Given the description of an element on the screen output the (x, y) to click on. 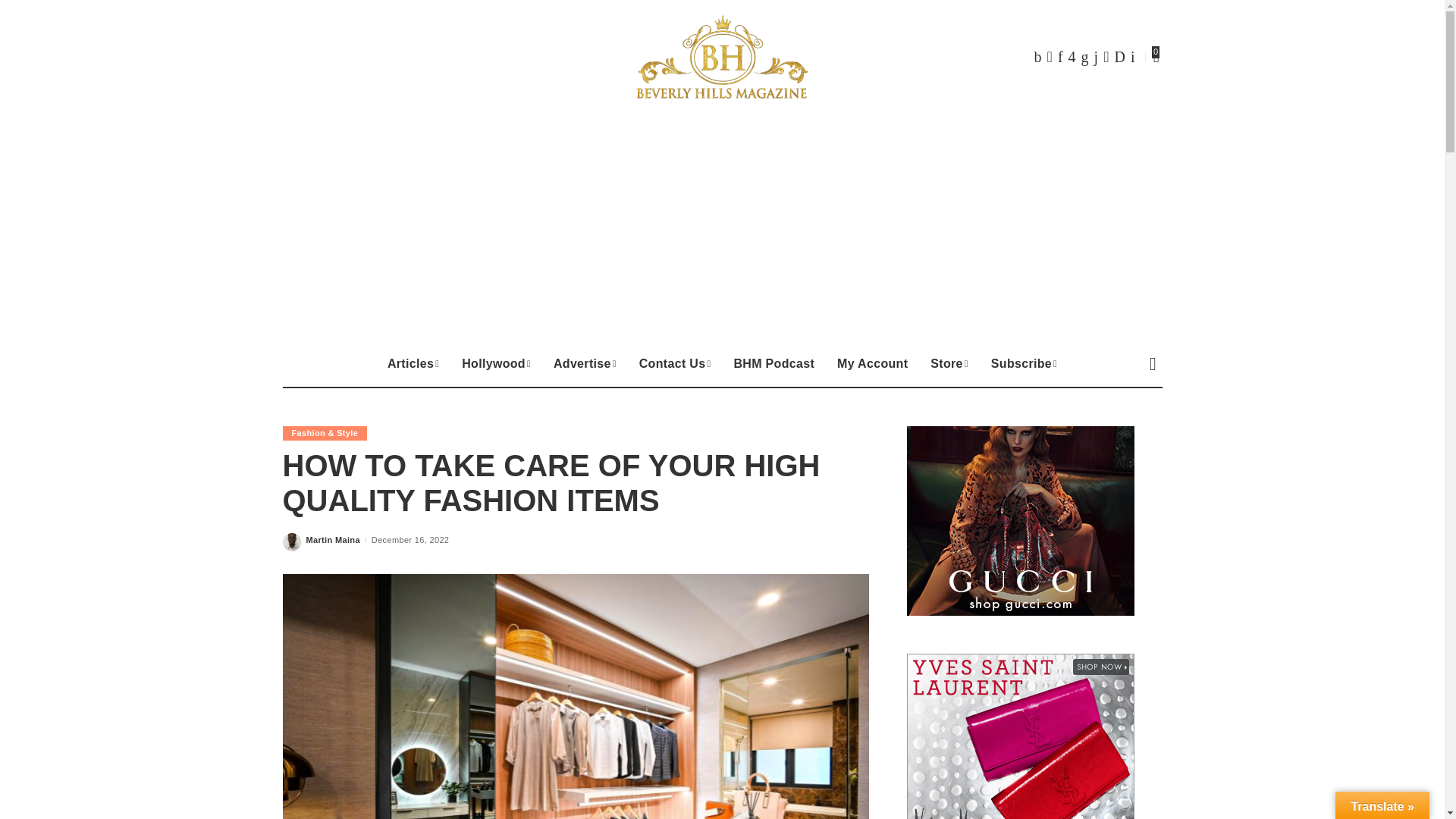
Beverly Hills Magazine (722, 56)
